Given the description of an element on the screen output the (x, y) to click on. 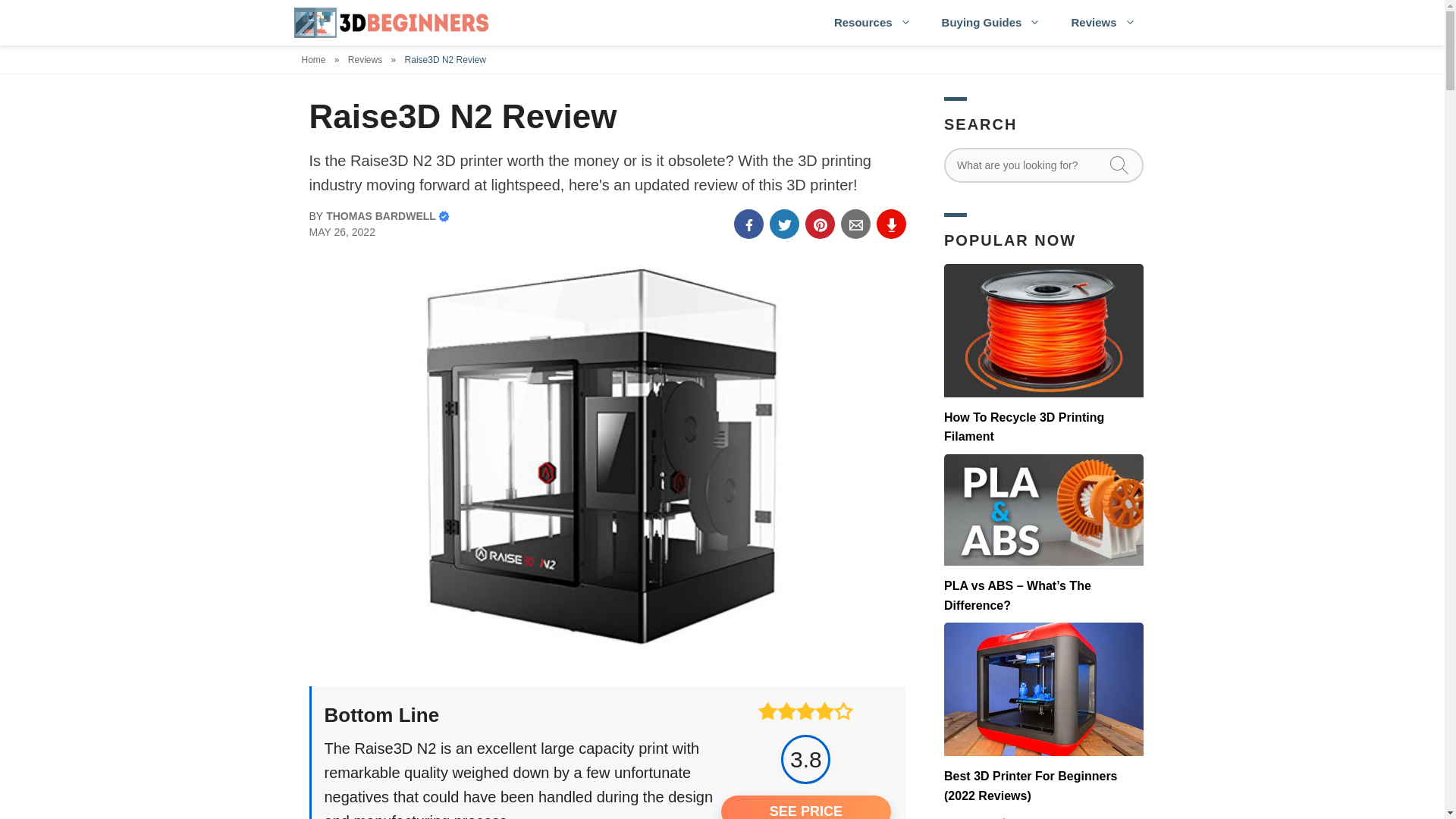
Home Element type: text (316, 59)
How To Recycle 3D Printing Filament Element type: text (1043, 354)
Resources Element type: text (872, 22)
3D Beginners Element type: hover (393, 22)
Reviews Element type: text (365, 59)
Download PDF Element type: hover (891, 223)
Best 3D Printer For Beginners (2022 Reviews) Element type: text (1043, 713)
Reviews Element type: text (1102, 22)
Search for: Element type: hover (1043, 164)
Buying Guides Element type: text (991, 22)
